Given the description of an element on the screen output the (x, y) to click on. 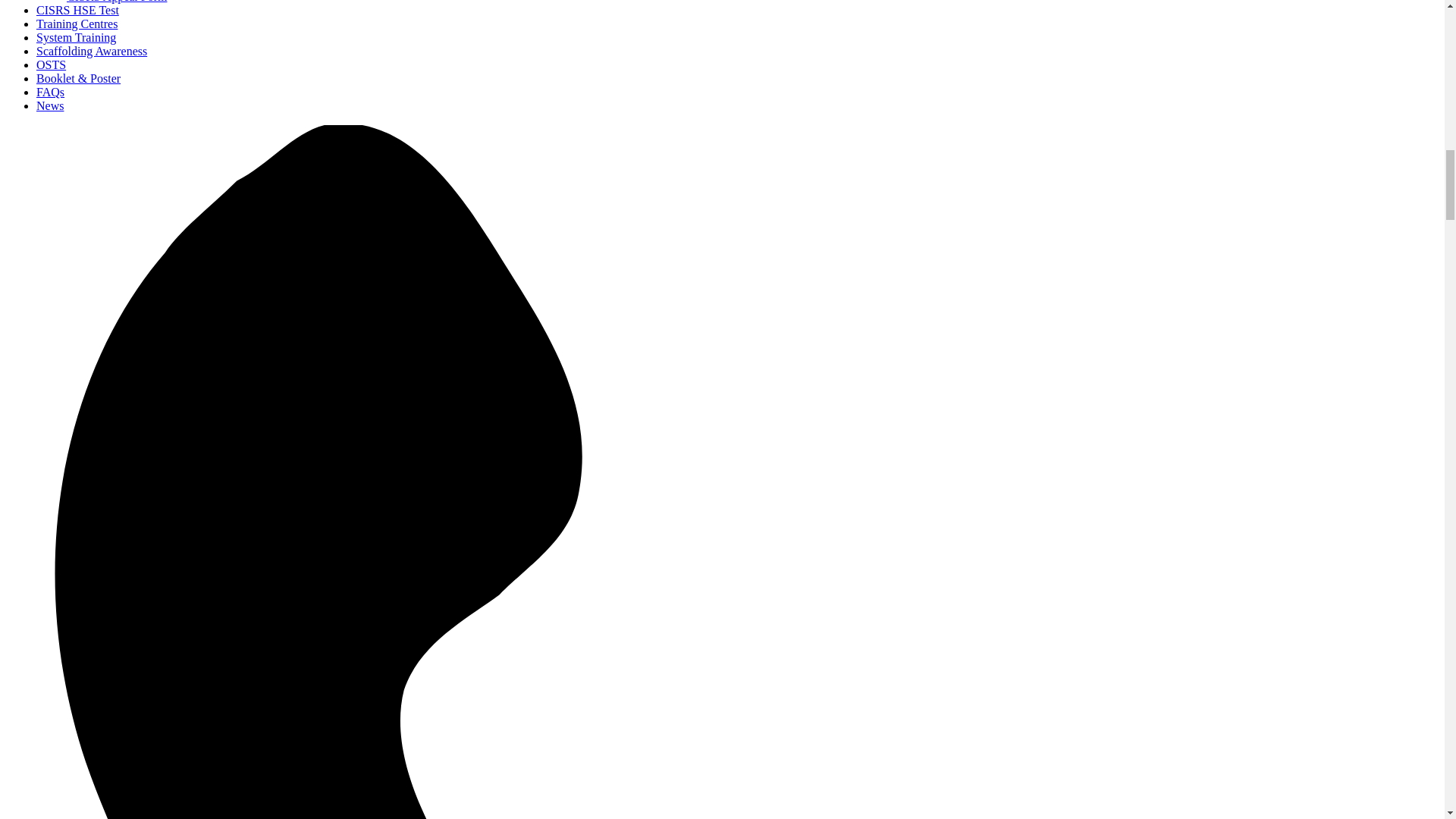
System Training (76, 37)
Training Centres (76, 23)
Scaffolding Awareness (91, 51)
System Training (76, 37)
OSTS (50, 64)
CISRS HSE Test (77, 10)
CISRS Cards (116, 1)
News (50, 105)
CISRS Appeal Form (116, 1)
CISRS HSE Test (77, 10)
Training Centres (76, 23)
FAQs (50, 91)
